Given the description of an element on the screen output the (x, y) to click on. 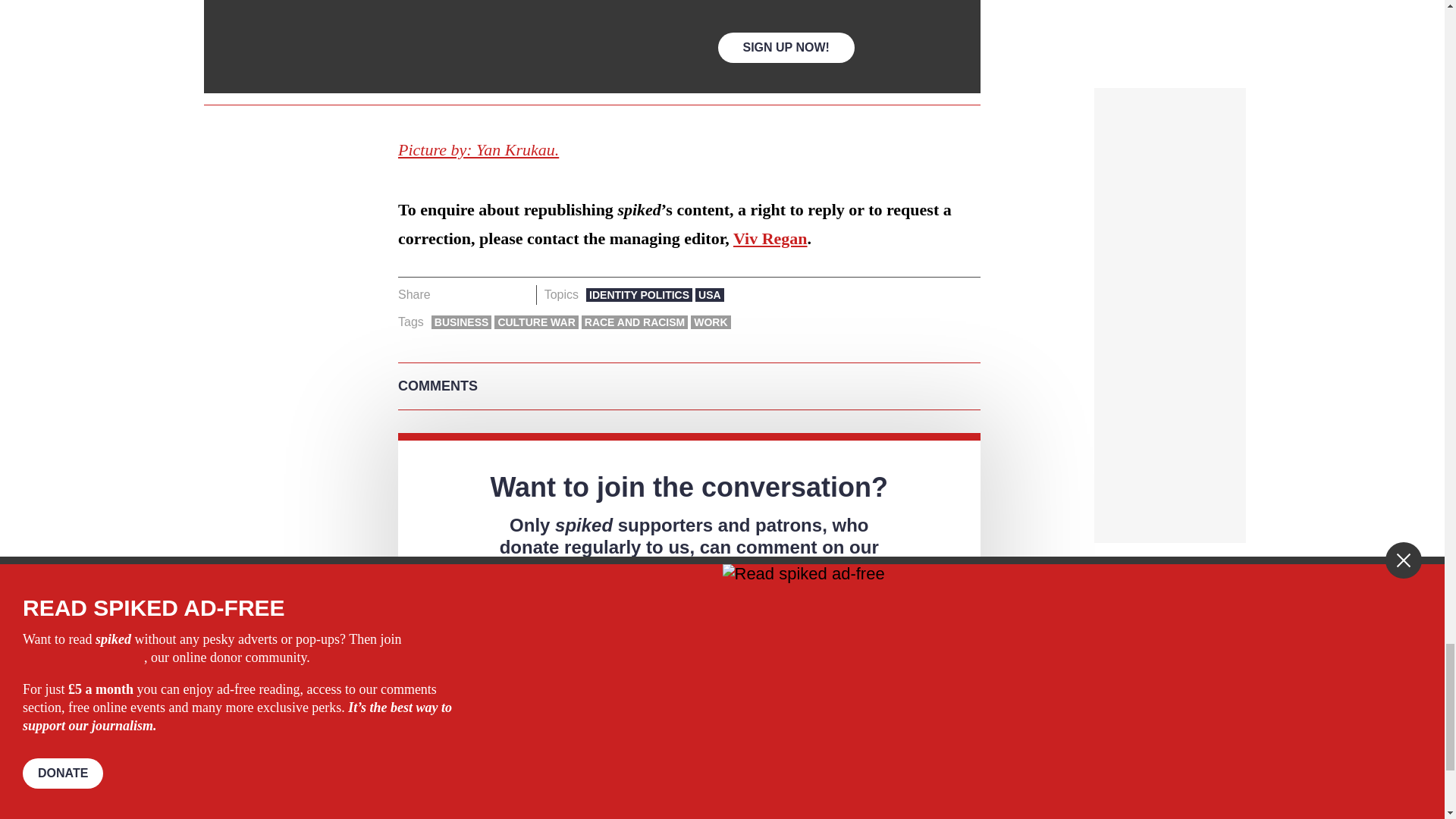
Share on Email (518, 294)
Share on Whatsapp (494, 294)
Share on Twitter (471, 294)
Share on Facebook (448, 294)
